Given the description of an element on the screen output the (x, y) to click on. 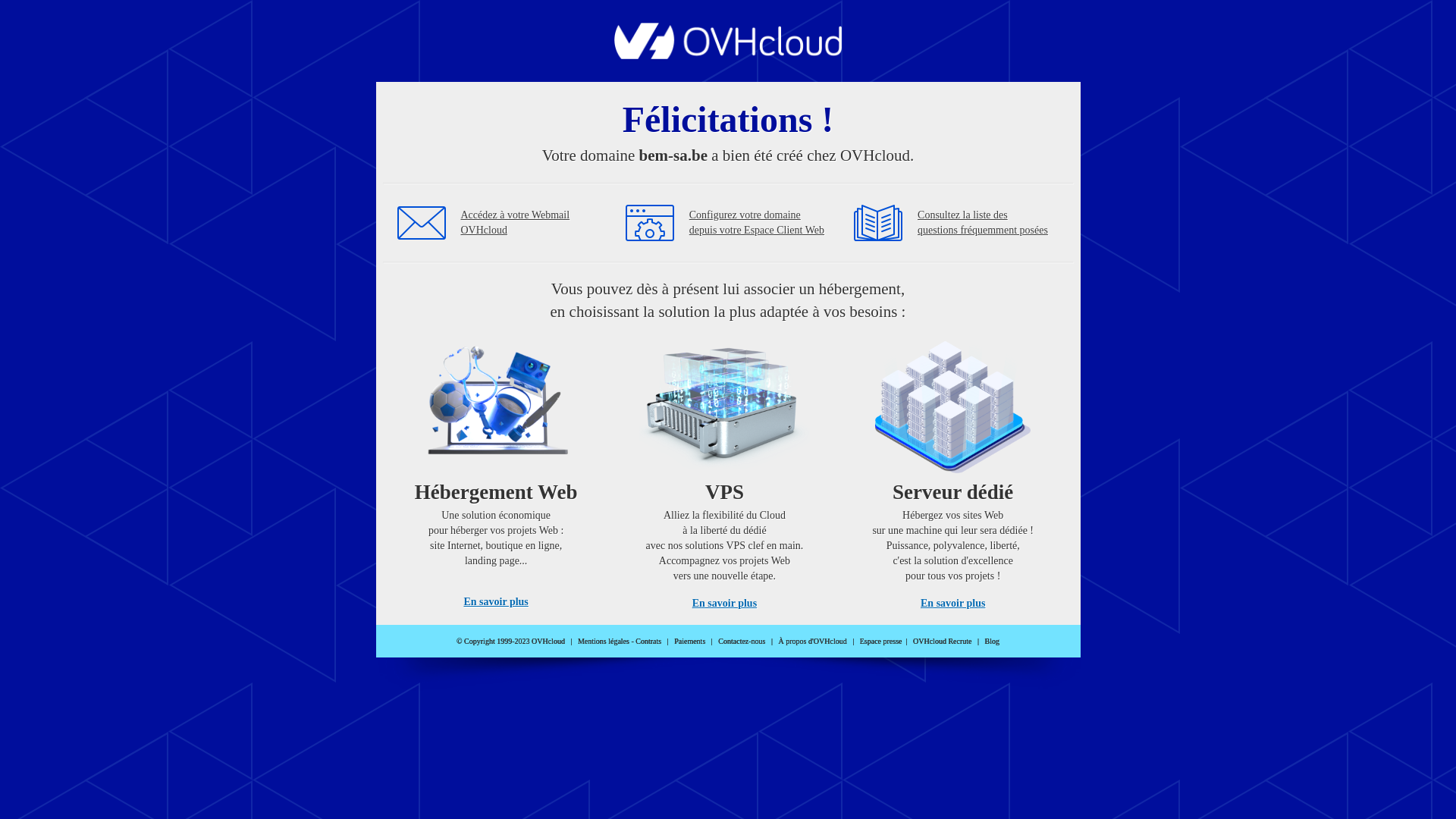
Contactez-nous Element type: text (741, 641)
VPS Element type: hover (724, 469)
Espace presse Element type: text (880, 641)
En savoir plus Element type: text (952, 602)
En savoir plus Element type: text (724, 602)
OVHcloud Element type: hover (727, 54)
Paiements Element type: text (689, 641)
Blog Element type: text (992, 641)
OVHcloud Recrute Element type: text (942, 641)
En savoir plus Element type: text (495, 601)
Configurez votre domaine
depuis votre Espace Client Web Element type: text (756, 222)
